Given the description of an element on the screen output the (x, y) to click on. 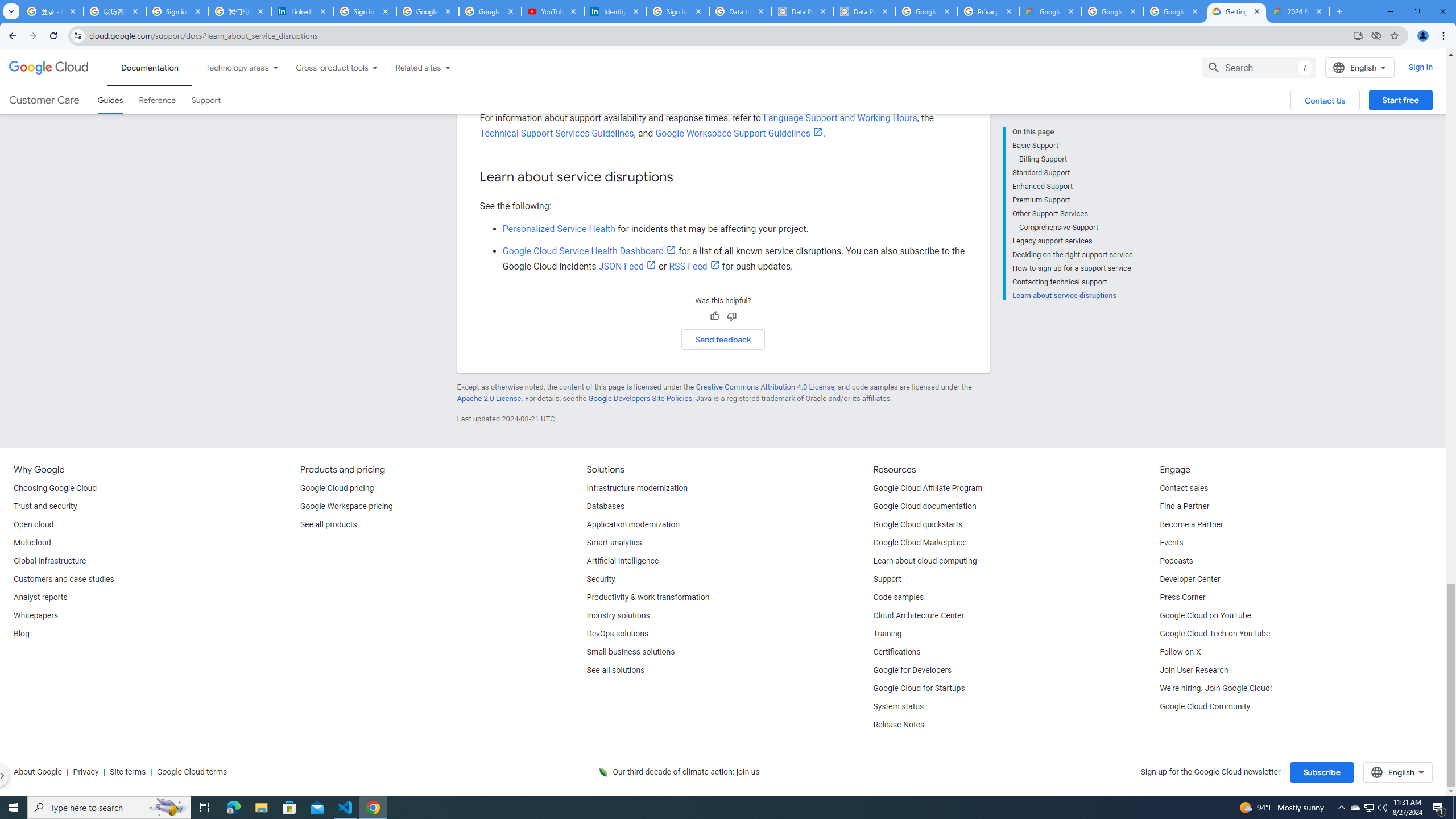
Technology areas (230, 67)
Learn about cloud computing (924, 561)
Standard Support (1071, 172)
Our third decade of climate action: join us (686, 772)
Comprehensive Support (1075, 227)
Google Cloud Tech on YouTube (1214, 633)
Learn about service disruptions (1071, 294)
Analyst reports (39, 597)
Contact sales (1183, 488)
learn how to manage support cases (743, 95)
Customers and case studies (64, 579)
